Given the description of an element on the screen output the (x, y) to click on. 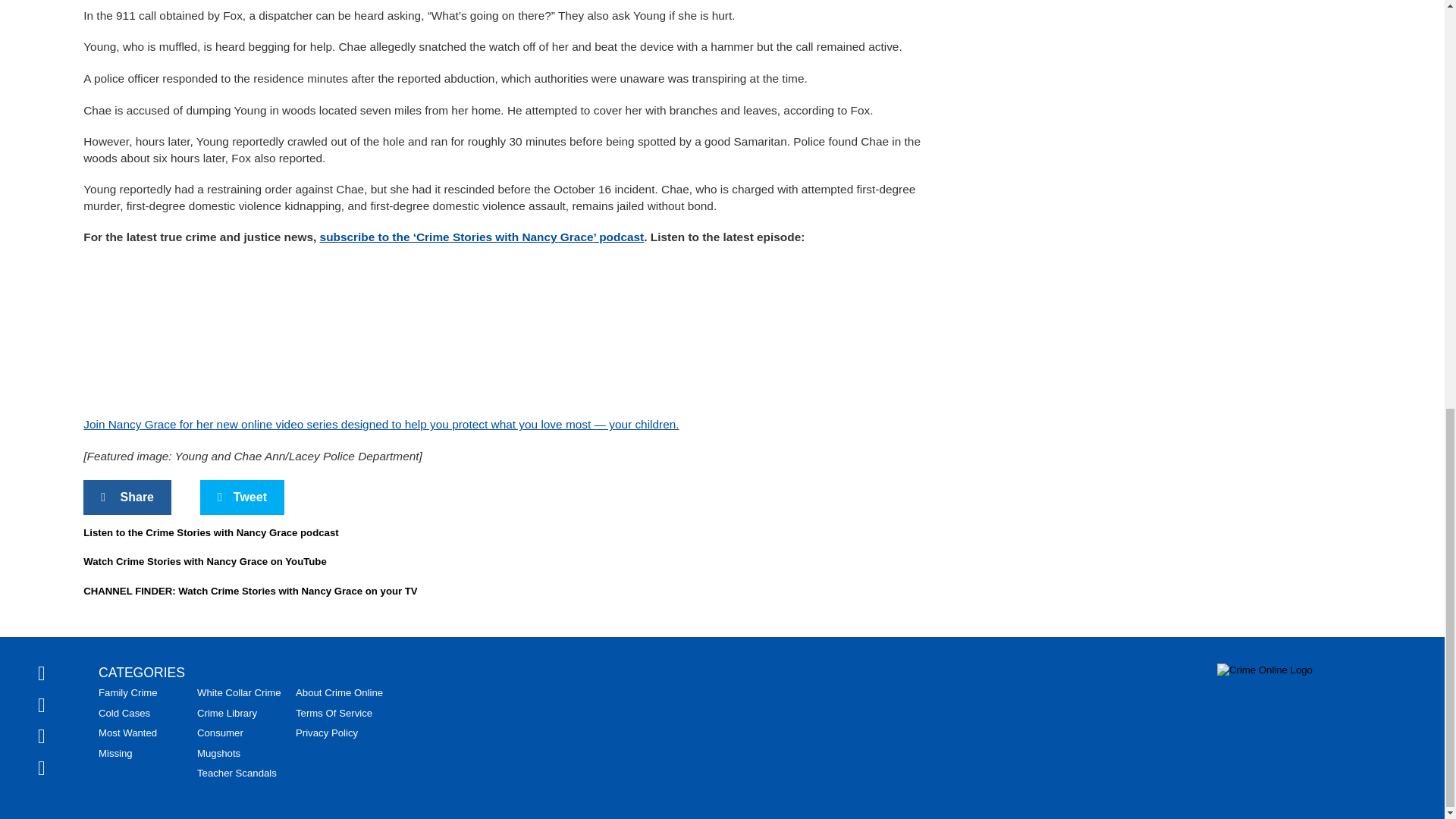
Share (126, 497)
Tweet (241, 497)
Listen to the Crime Stories with Nancy Grace podcast (209, 532)
Watch Crime Stories with Nancy Grace on YouTube (204, 561)
